Given the description of an element on the screen output the (x, y) to click on. 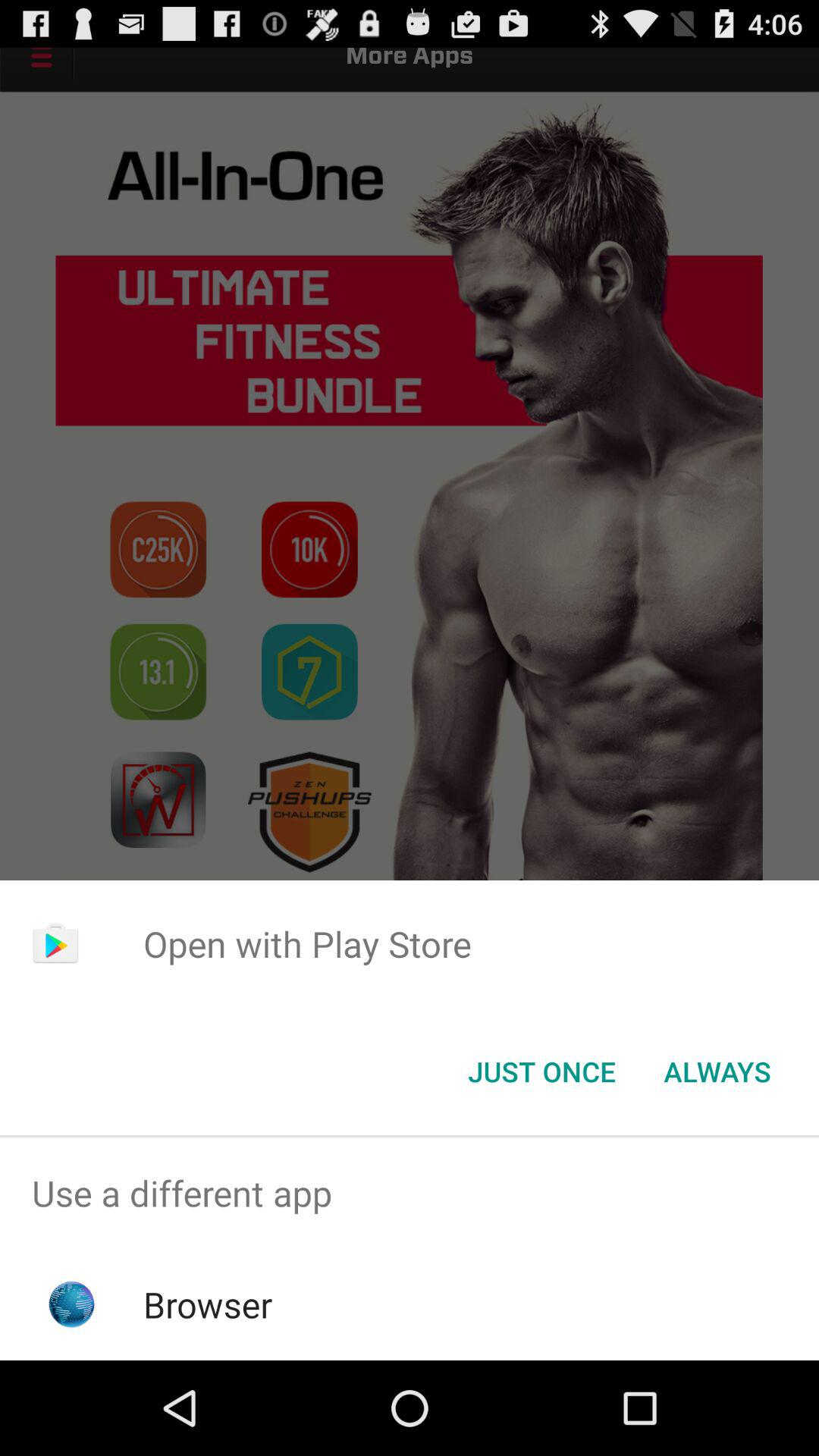
turn on the app above browser app (409, 1192)
